Given the description of an element on the screen output the (x, y) to click on. 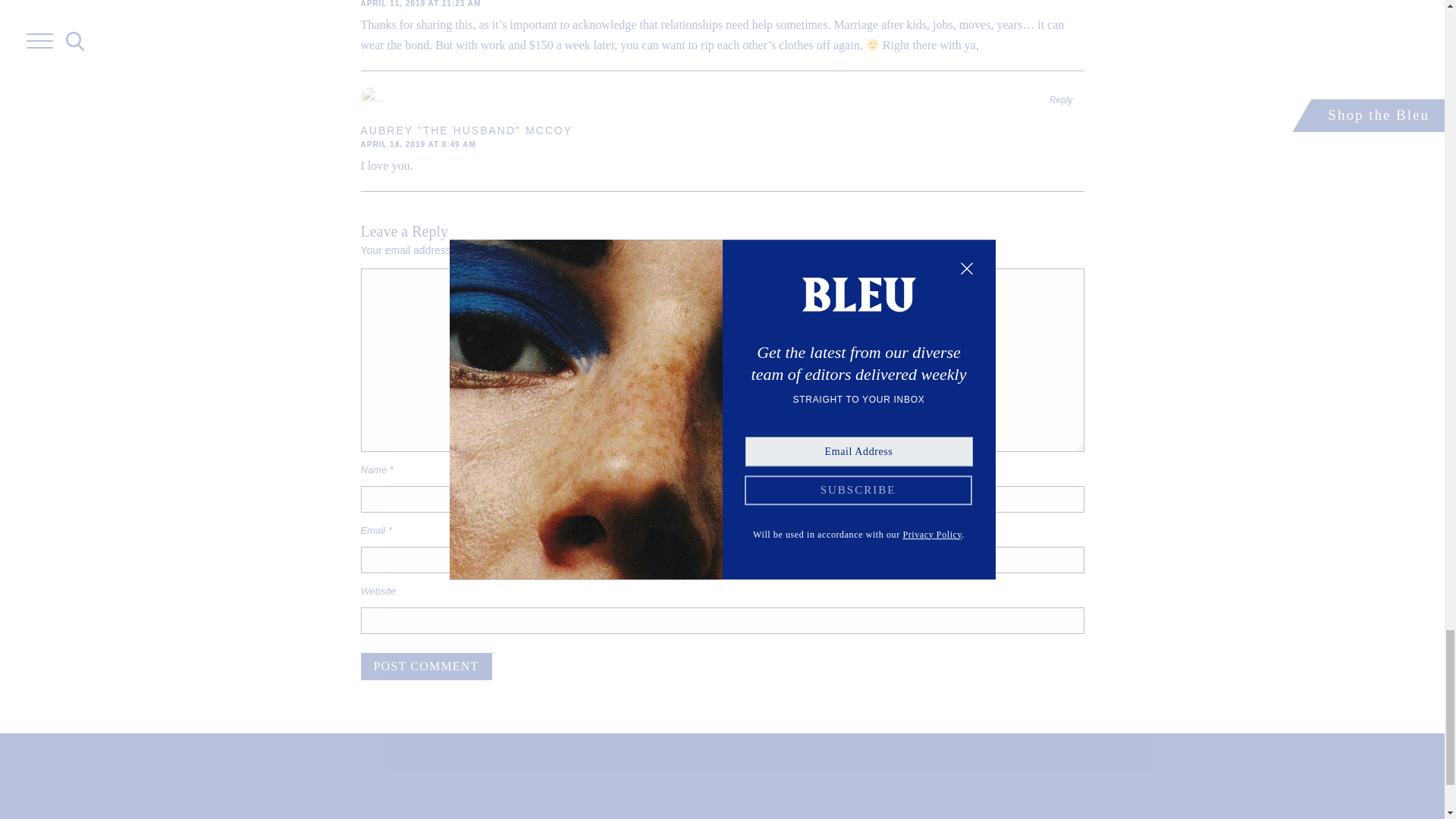
Post Comment (426, 666)
